Given the description of an element on the screen output the (x, y) to click on. 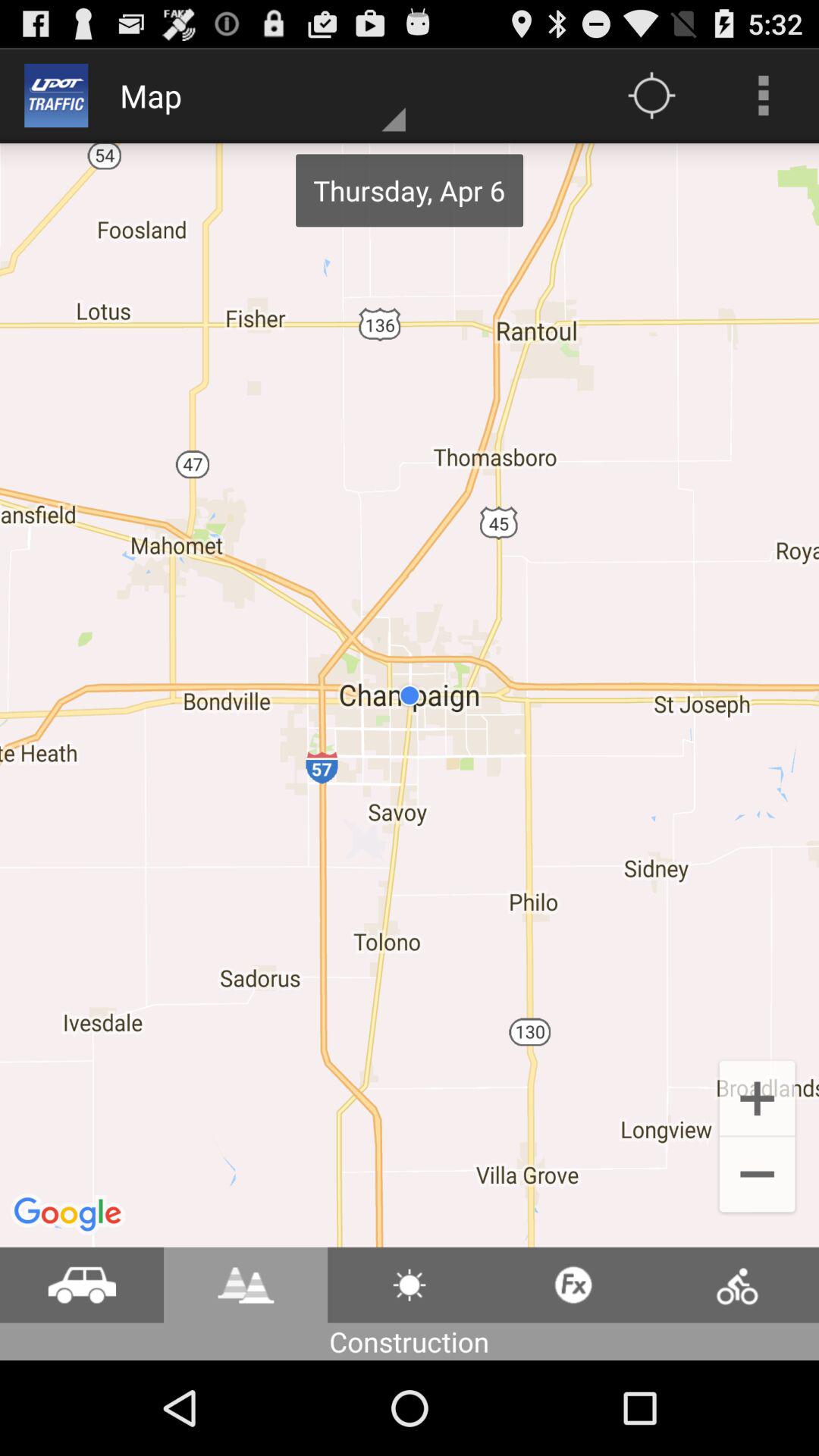
view cycling map (737, 1284)
